Given the description of an element on the screen output the (x, y) to click on. 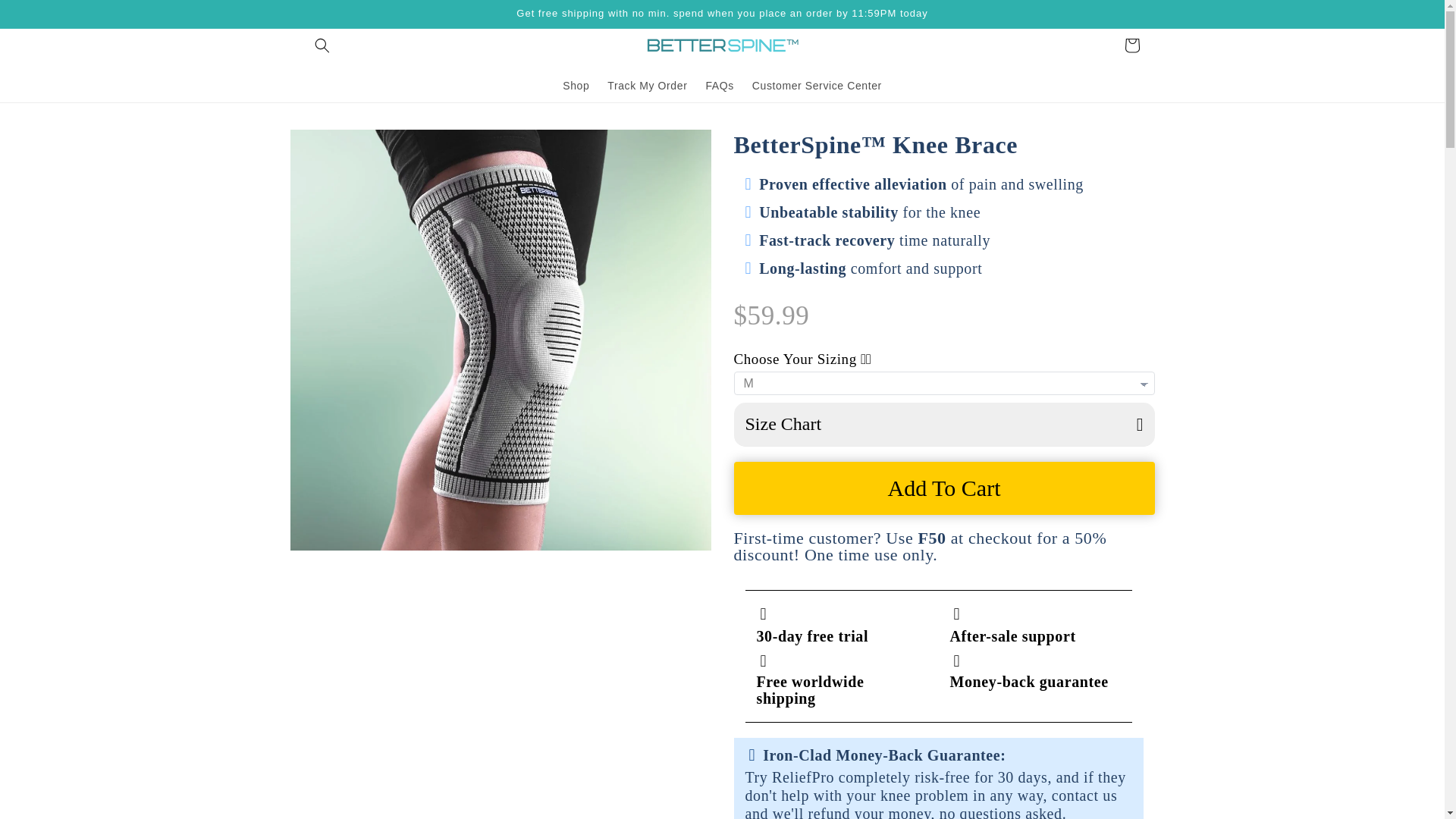
Skip to content (45, 17)
Track My Order (646, 85)
Add To Cart (943, 488)
Size Chart (943, 424)
Cart (1131, 45)
Shop (575, 85)
FAQs (718, 85)
Customer Service Center (816, 85)
